Given the description of an element on the screen output the (x, y) to click on. 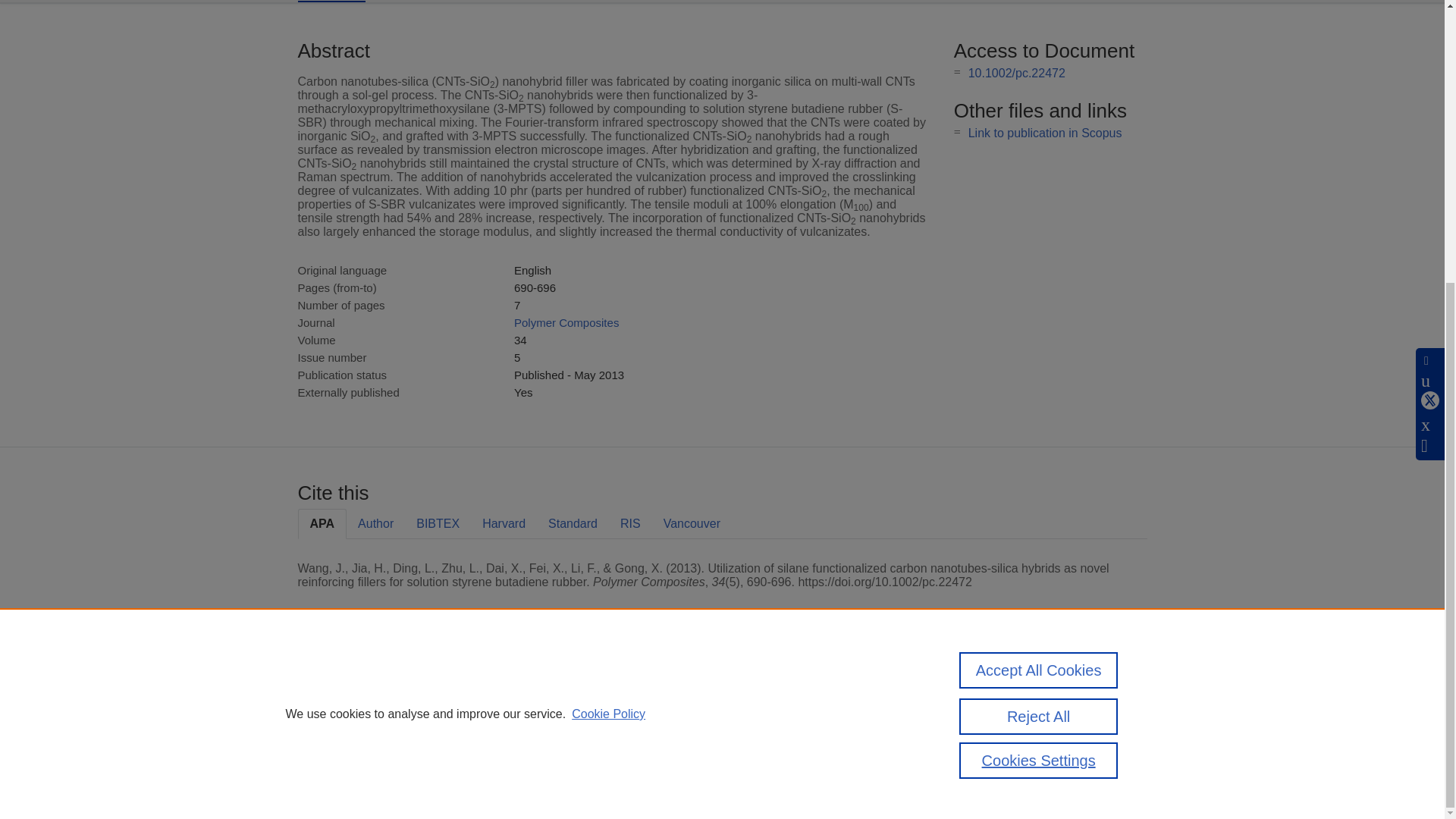
Elsevier B.V. (506, 708)
Cookie Policy (608, 290)
Contact us (1122, 693)
About web accessibility (1020, 693)
Overview (331, 1)
Reject All (1038, 293)
Cookies Settings (334, 761)
Accept All Cookies (1038, 247)
Polymer Composites (565, 322)
Report vulnerability (1020, 762)
